Given the description of an element on the screen output the (x, y) to click on. 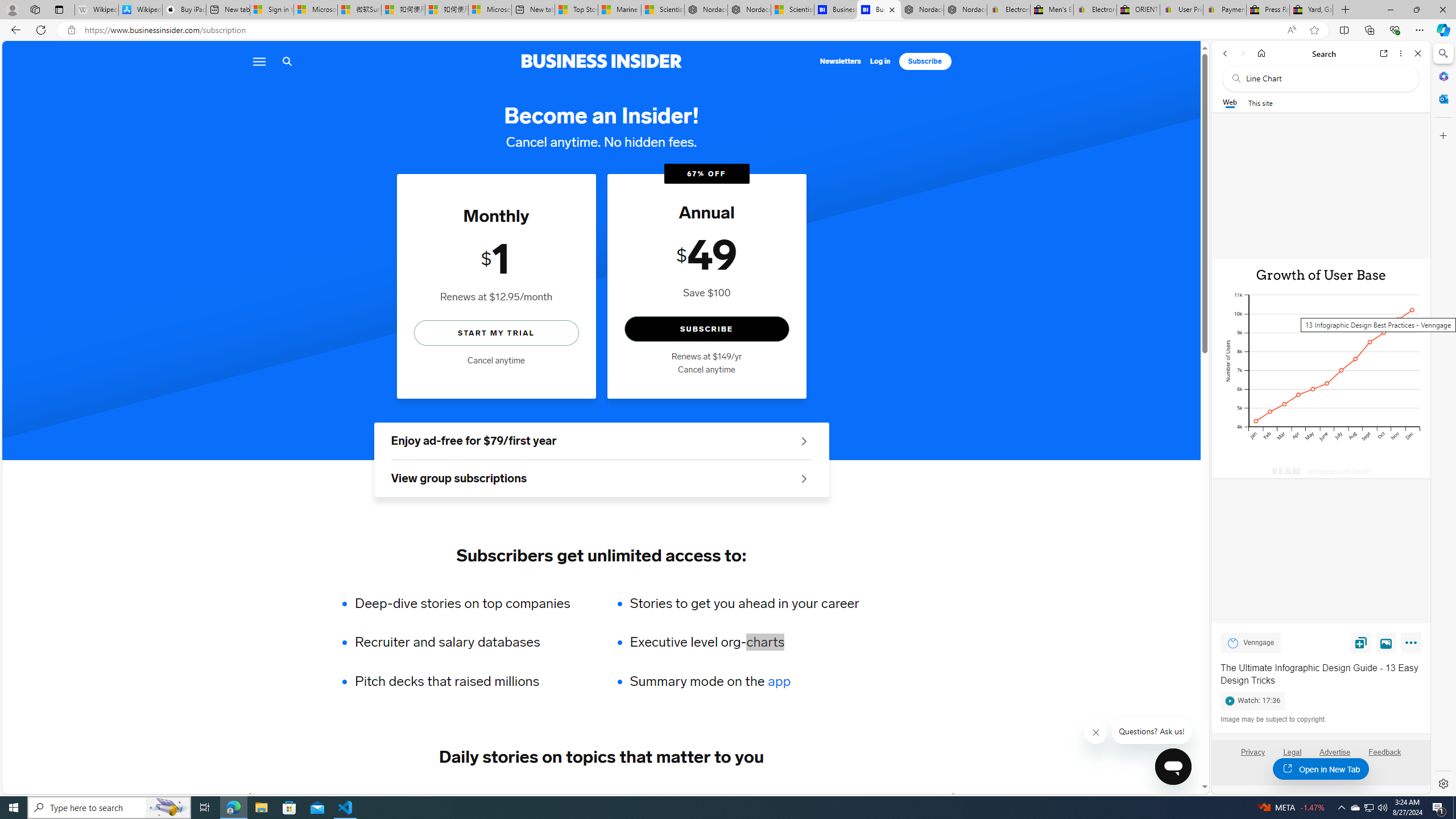
Open in New Tab (1321, 768)
Questions? Ask us! (1152, 731)
More (1413, 644)
Deep-dive stories on top companies (470, 602)
Menu icon (257, 61)
STRATEGY (890, 796)
Class: sc-1k07fow-1 cbnSms (1173, 766)
RETAIL (422, 796)
